Given the description of an element on the screen output the (x, y) to click on. 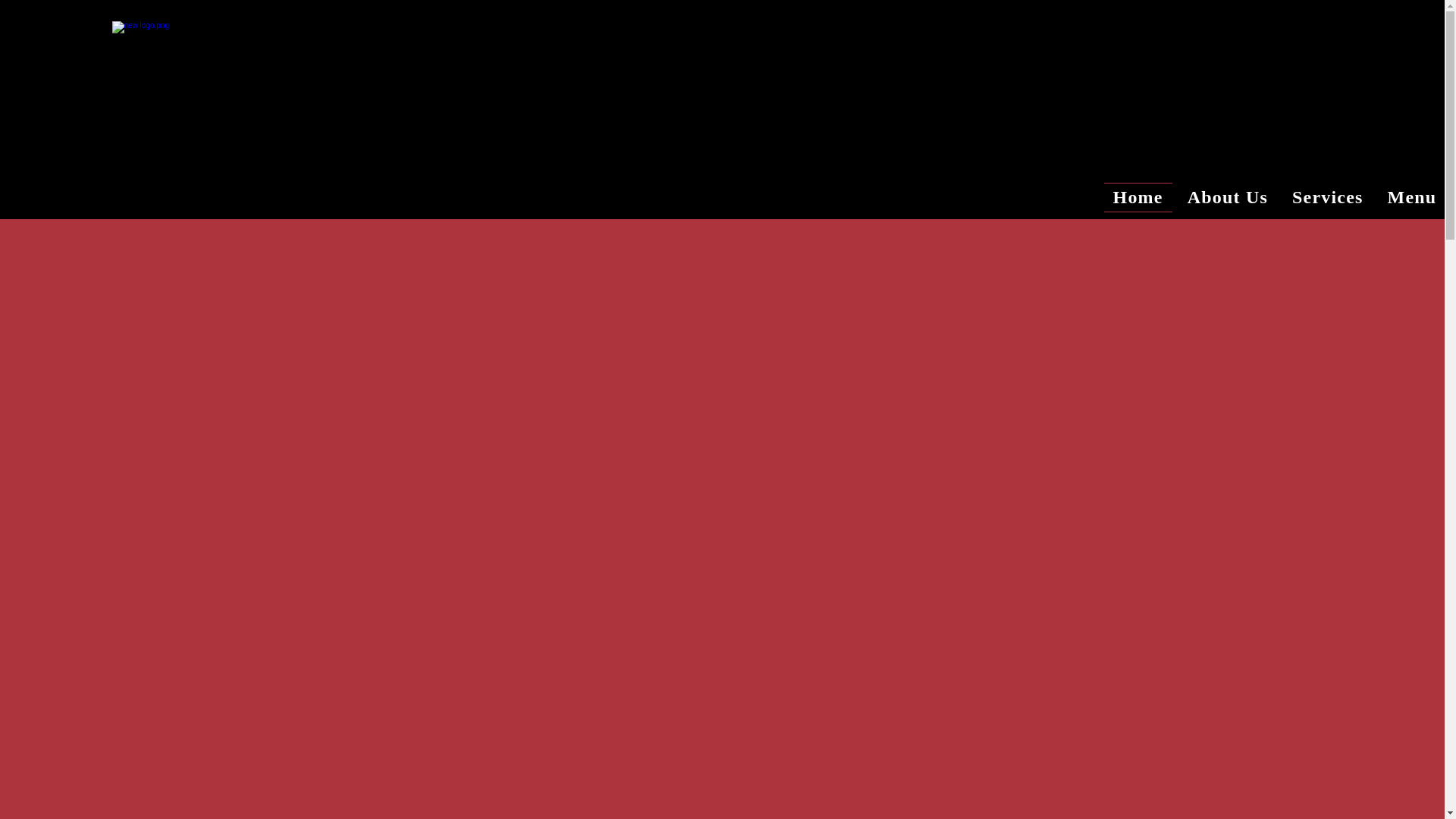
Home (1137, 197)
New Logo2.jpg (213, 110)
Services (1327, 197)
About Us (1226, 197)
